Given the description of an element on the screen output the (x, y) to click on. 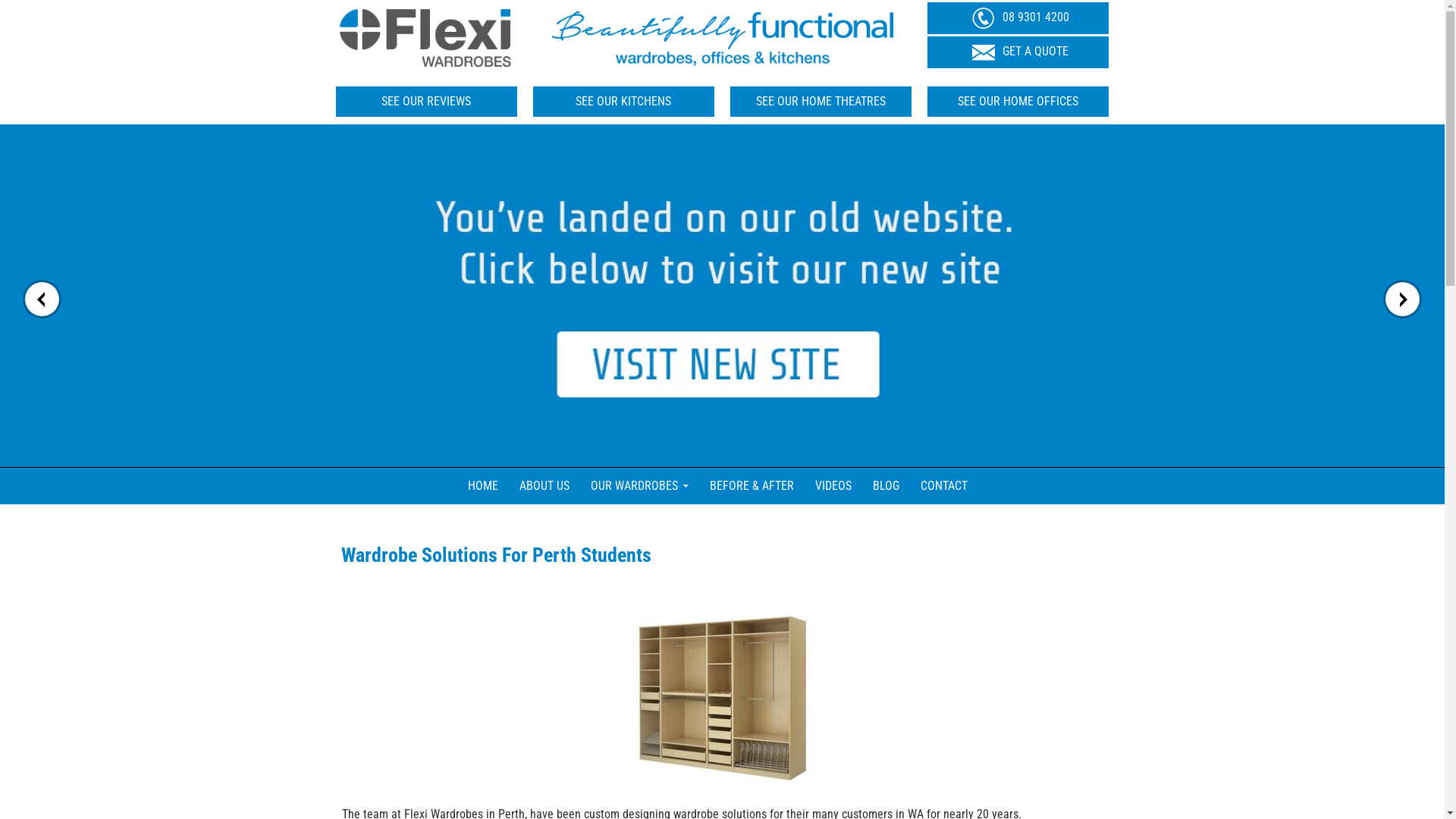
OUR WARDROBES Element type: text (638, 485)
SEE OUR HOME OFFICES Element type: text (1018, 101)
BEFORE & AFTER Element type: text (751, 485)
VIDEOS Element type: text (832, 485)
BLOG Element type: text (884, 485)
CONTACT Element type: text (943, 485)
08 9301 4200 Element type: text (1018, 16)
SEE OUR KITCHENS Element type: text (624, 101)
ABOUT US Element type: text (543, 485)
SEE OUR HOME THEATRES Element type: text (821, 101)
HOME Element type: text (482, 485)
SEE OUR REVIEWS Element type: text (426, 101)
GET A QUOTE Element type: text (1018, 51)
